Given the description of an element on the screen output the (x, y) to click on. 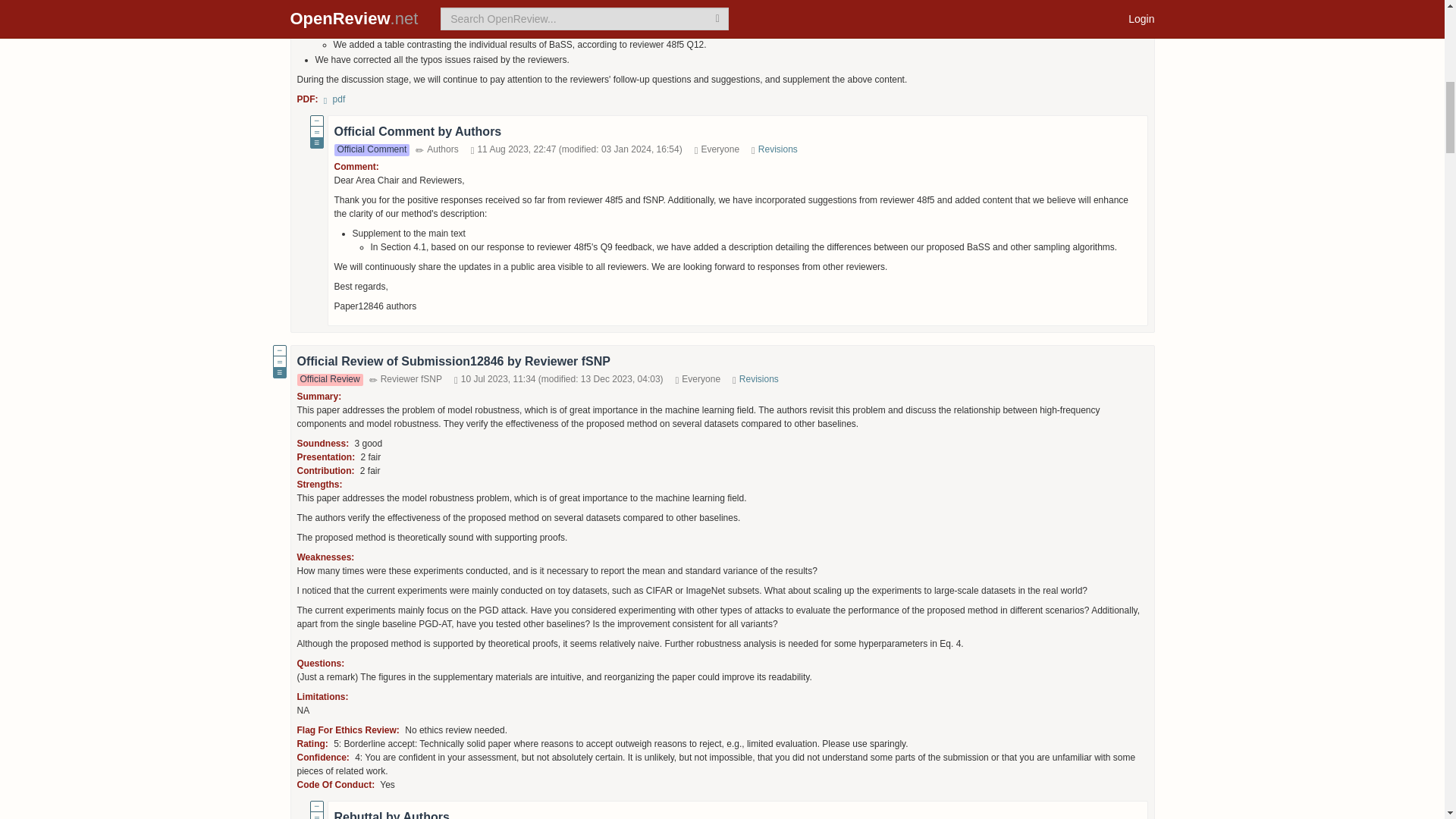
Revisions (777, 149)
 pdf (334, 99)
